Given the description of an element on the screen output the (x, y) to click on. 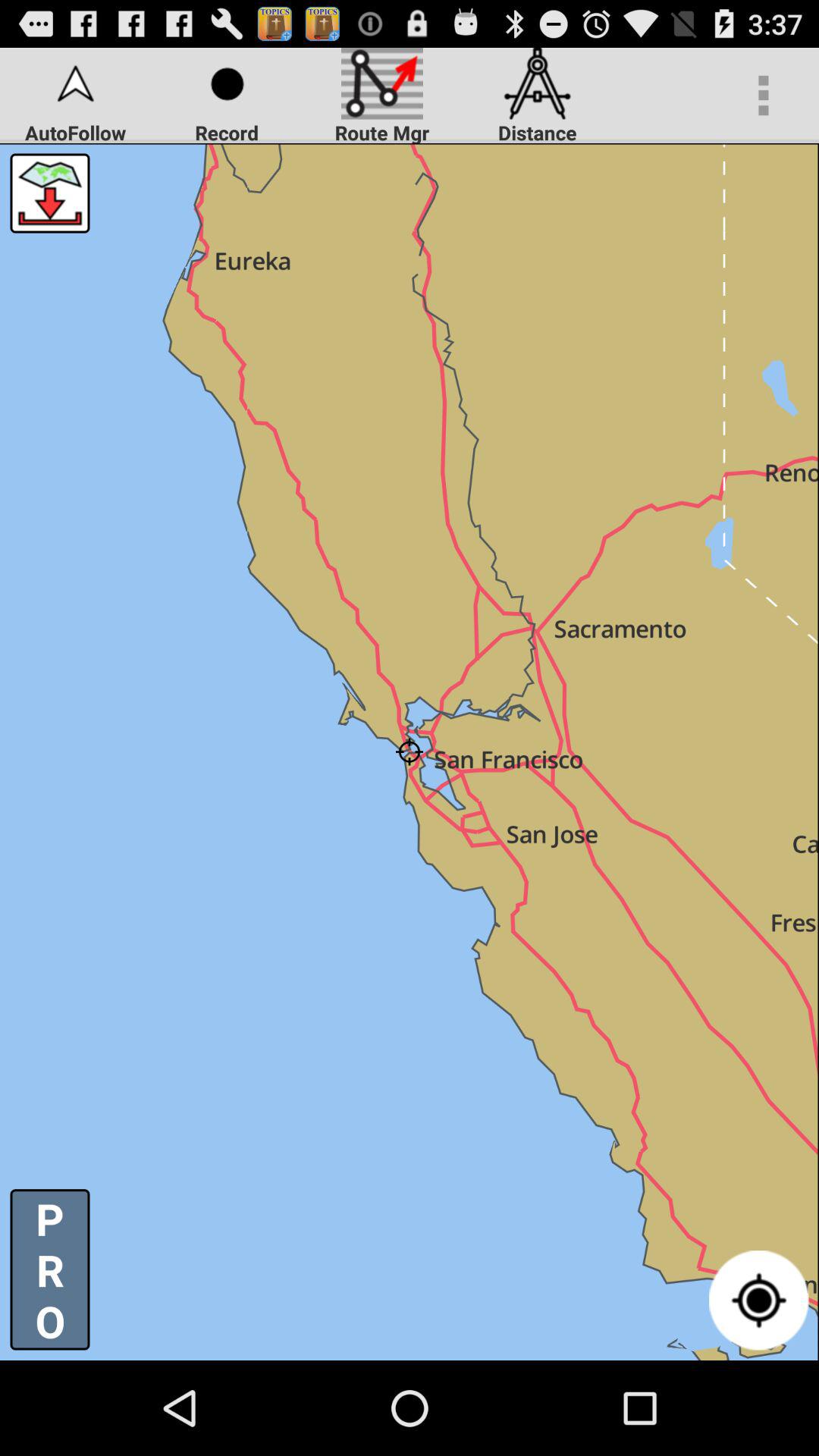
choose icon next to the record item (49, 193)
